Given the description of an element on the screen output the (x, y) to click on. 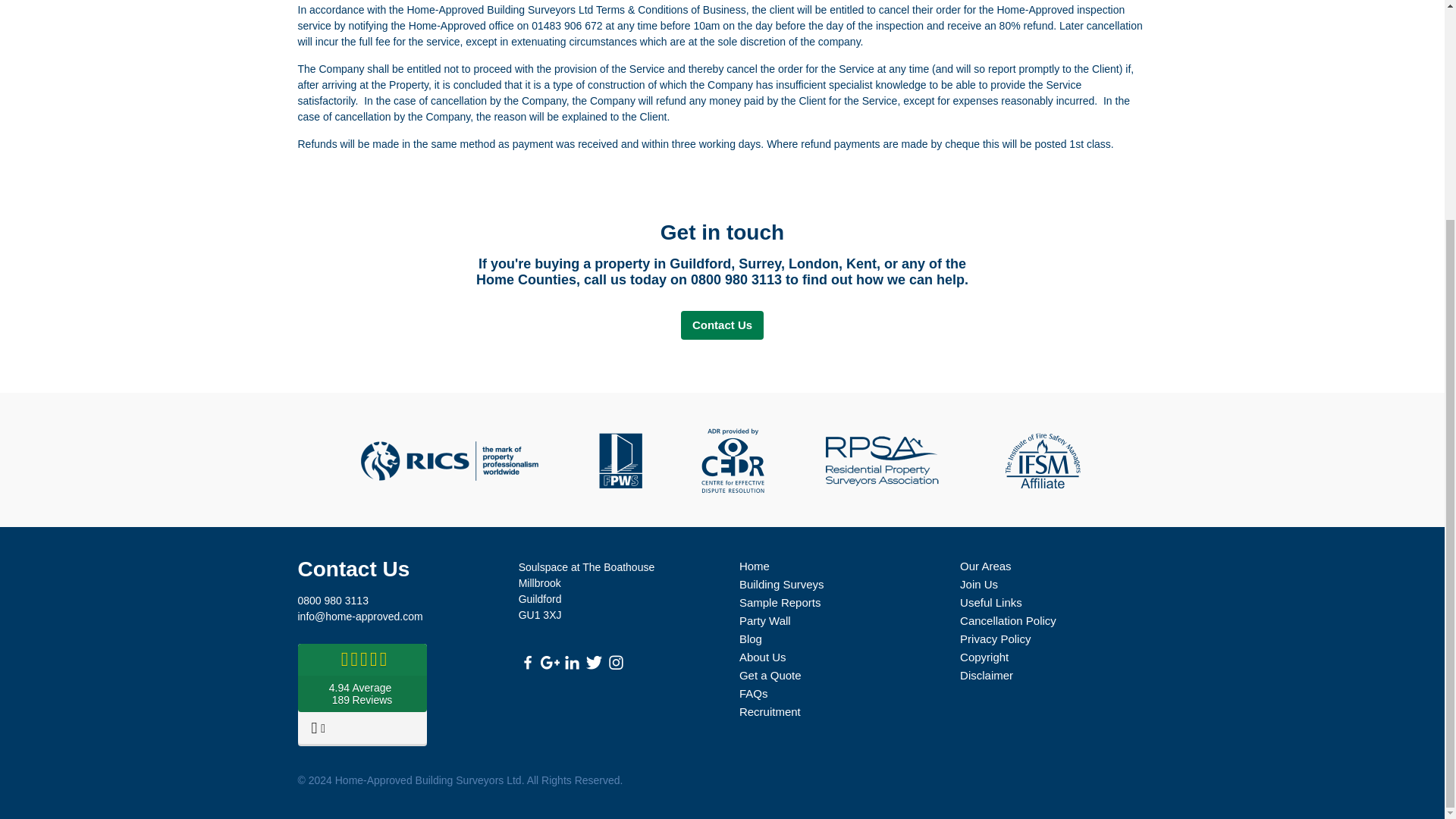
Blog (750, 638)
CEDR (732, 460)
About Us (762, 656)
Residential Property Surveyors Association (880, 460)
Sample Reports (780, 602)
The Institute of Fire Safety Managers (1042, 460)
Royal Institute of Chartered Surveyors (449, 460)
Faculty of Party Wall Surveyors (620, 460)
Building Surveys (781, 584)
Home (754, 565)
